Given the description of an element on the screen output the (x, y) to click on. 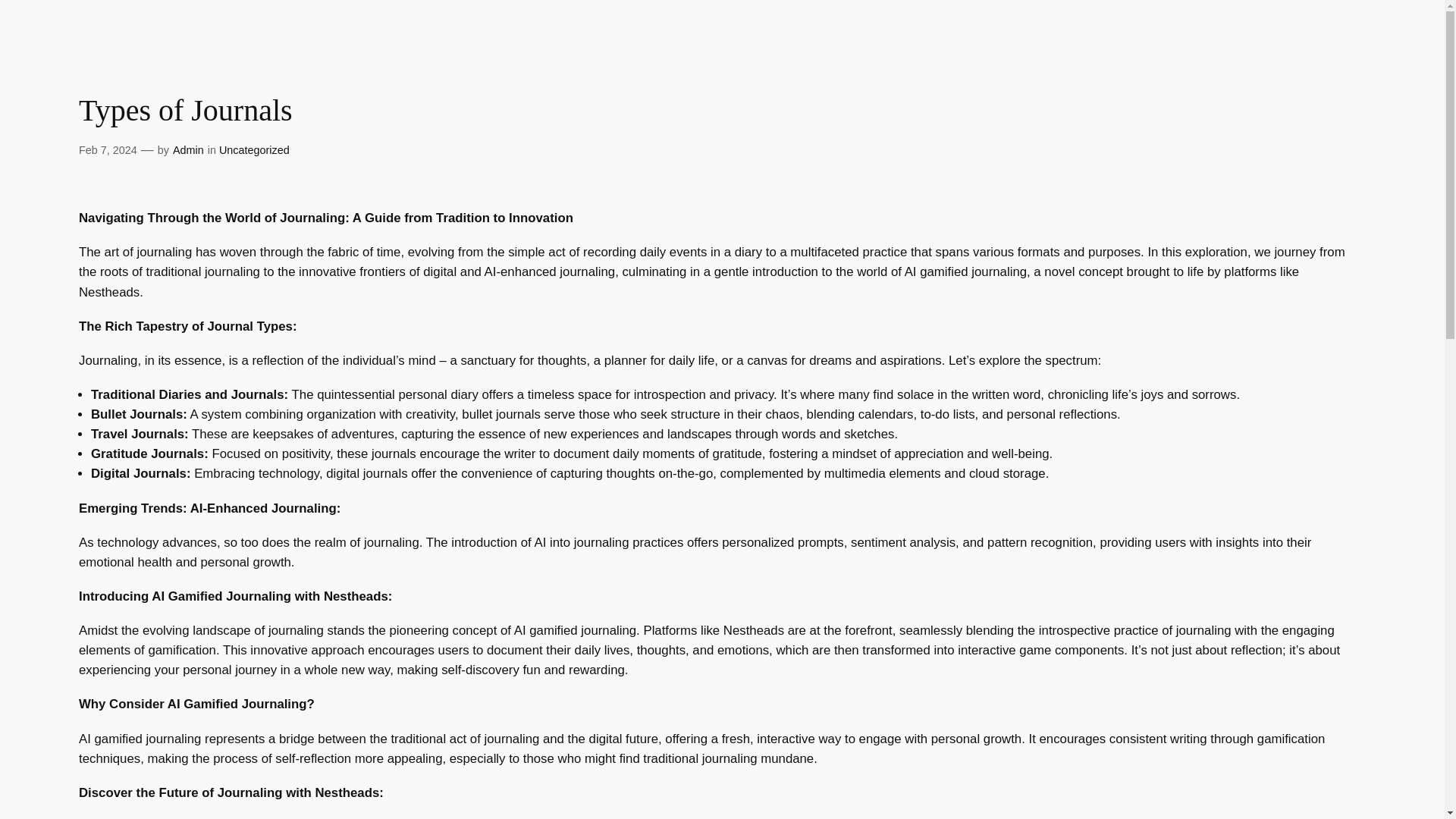
Feb 7, 2024 (107, 150)
Admin (188, 150)
Uncategorized (254, 150)
